Given the description of an element on the screen output the (x, y) to click on. 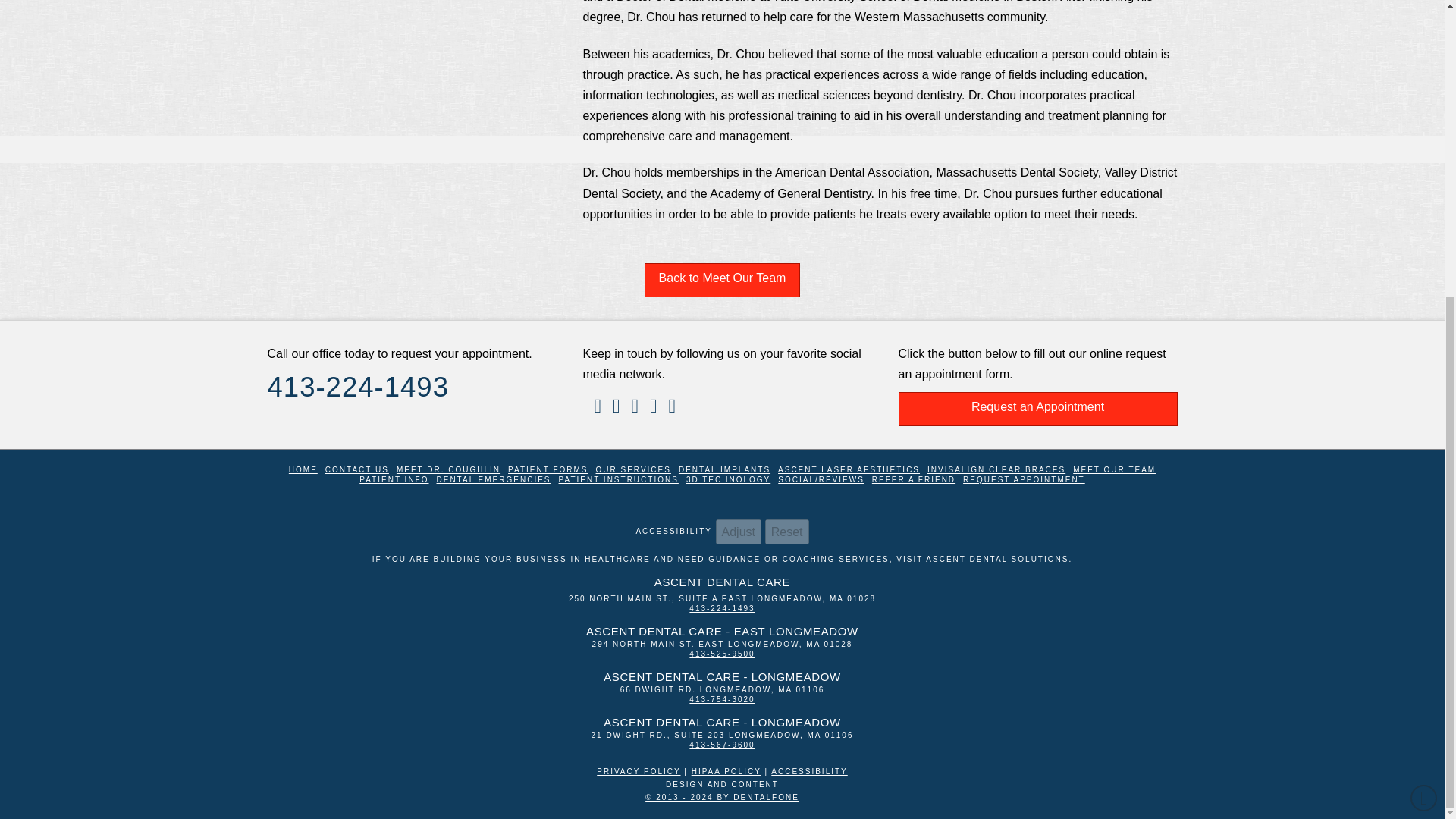
Phone Number (721, 745)
Dentalfone (637, 771)
Back to Top (1423, 338)
Dentalfone (722, 797)
Dentalfone (726, 771)
Phone Number (721, 699)
Phone Number (721, 654)
Contact Our Office (356, 470)
Phone Number (721, 608)
Meet Our Team (722, 279)
